Given the description of an element on the screen output the (x, y) to click on. 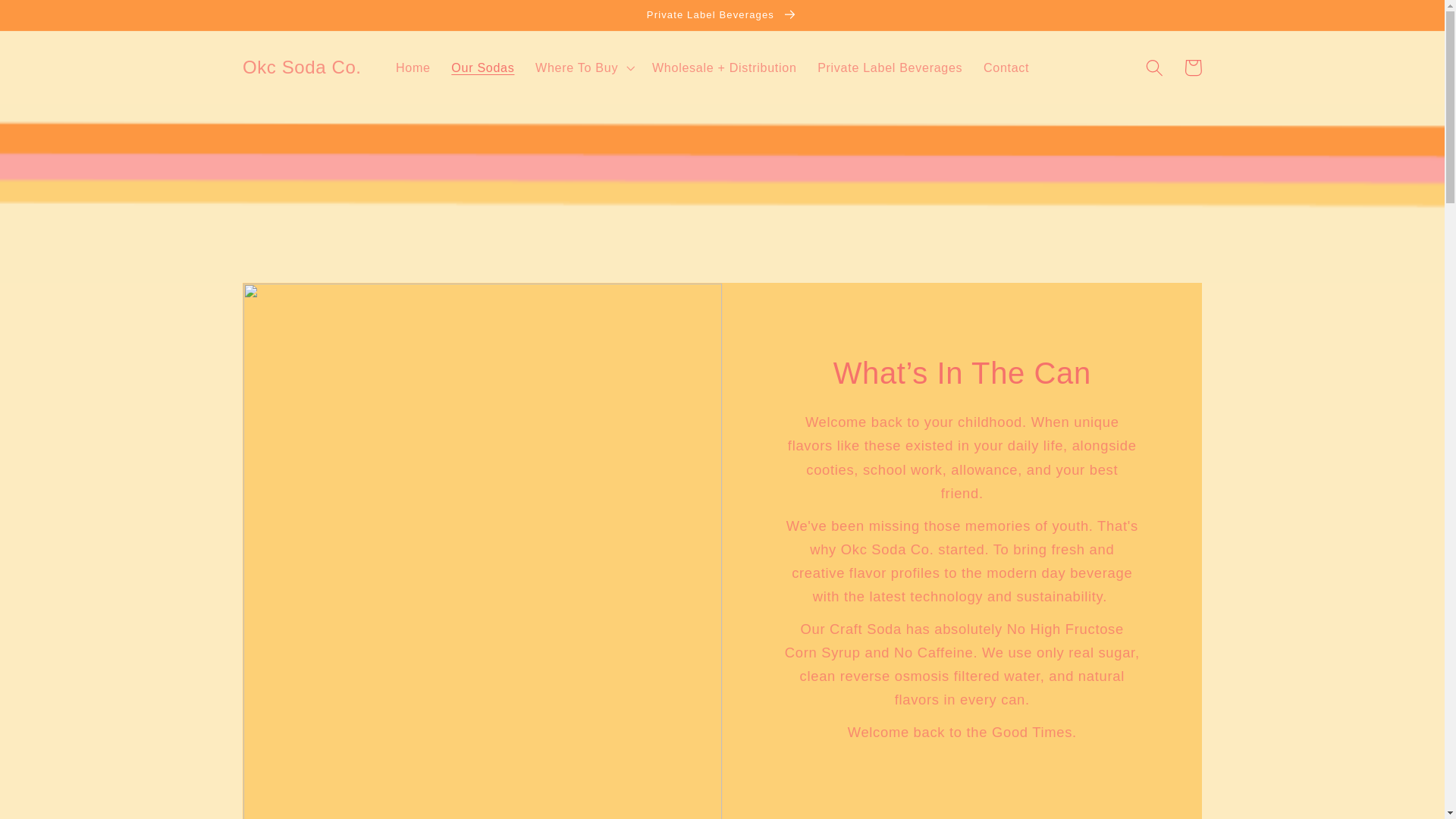
Private Label Beverages (889, 67)
Skip to content (52, 20)
Our Sodas (483, 67)
Contact (1005, 67)
Okc Soda Co. (301, 67)
Home (413, 67)
Cart (1192, 67)
